Given the description of an element on the screen output the (x, y) to click on. 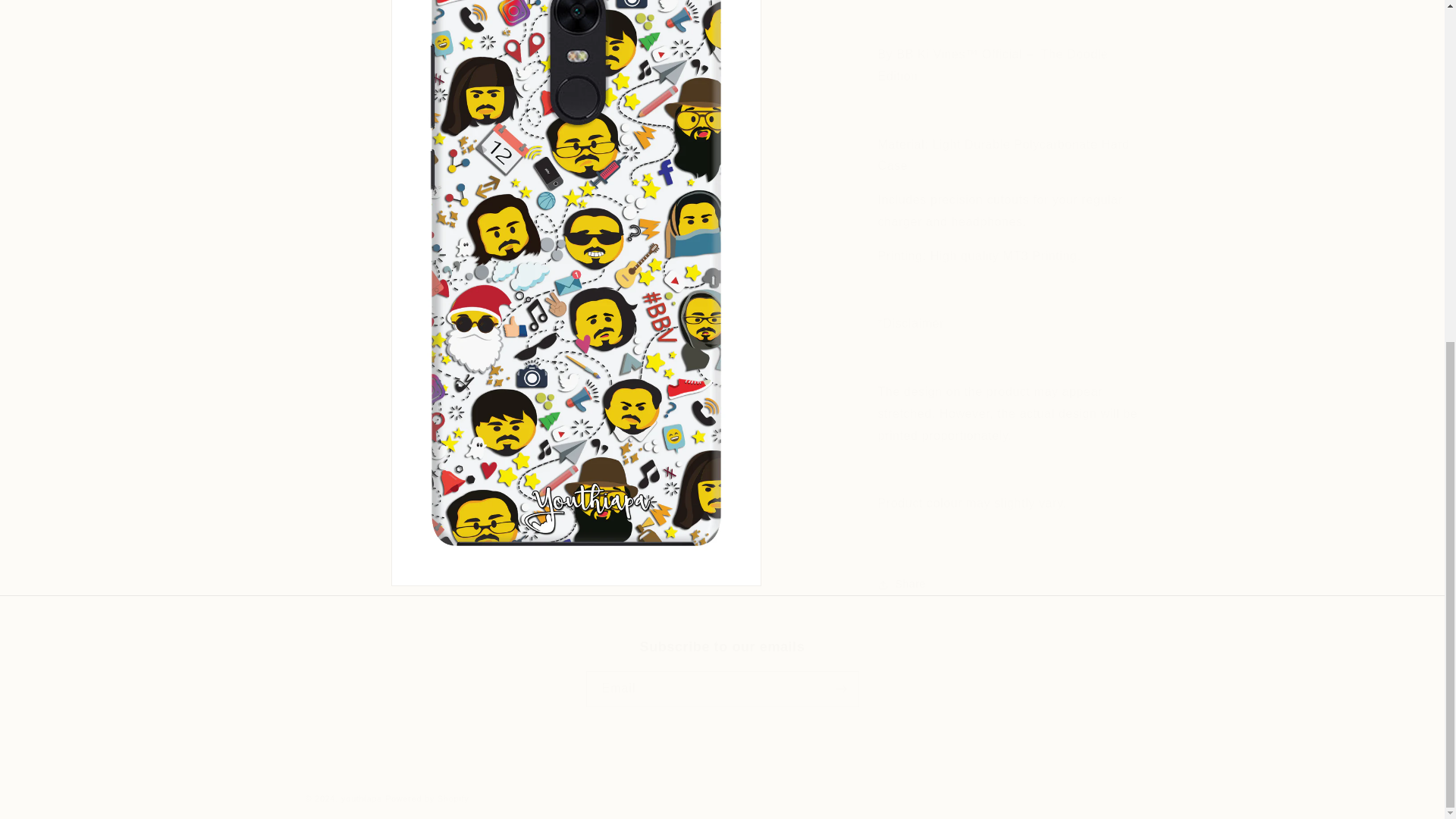
Open media 1 in modal (575, 106)
